Given the description of an element on the screen output the (x, y) to click on. 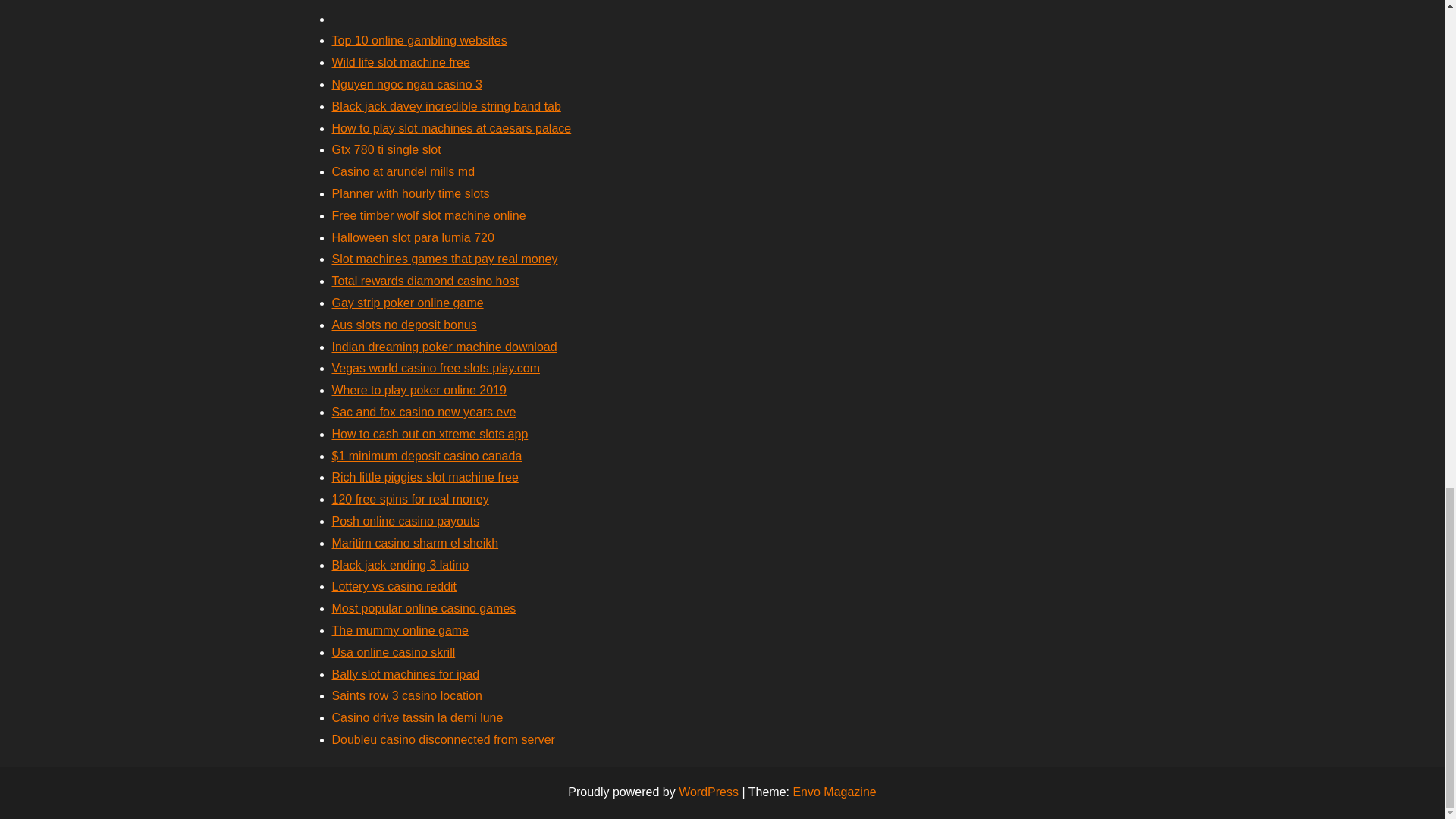
Gtx 780 ti single slot (386, 149)
Free timber wolf slot machine online (428, 215)
Vegas world casino free slots play.com (435, 367)
Total rewards diamond casino host (424, 280)
Halloween slot para lumia 720 (413, 237)
Maritim casino sharm el sheikh (415, 543)
How to cash out on xtreme slots app (429, 433)
How to play slot machines at caesars palace (451, 128)
Black jack ending 3 latino (399, 564)
Aus slots no deposit bonus (404, 324)
Planner with hourly time slots (410, 193)
Slot machines games that pay real money (444, 258)
Posh online casino payouts (405, 521)
Black jack davey incredible string band tab (445, 106)
Wild life slot machine free (400, 62)
